Given the description of an element on the screen output the (x, y) to click on. 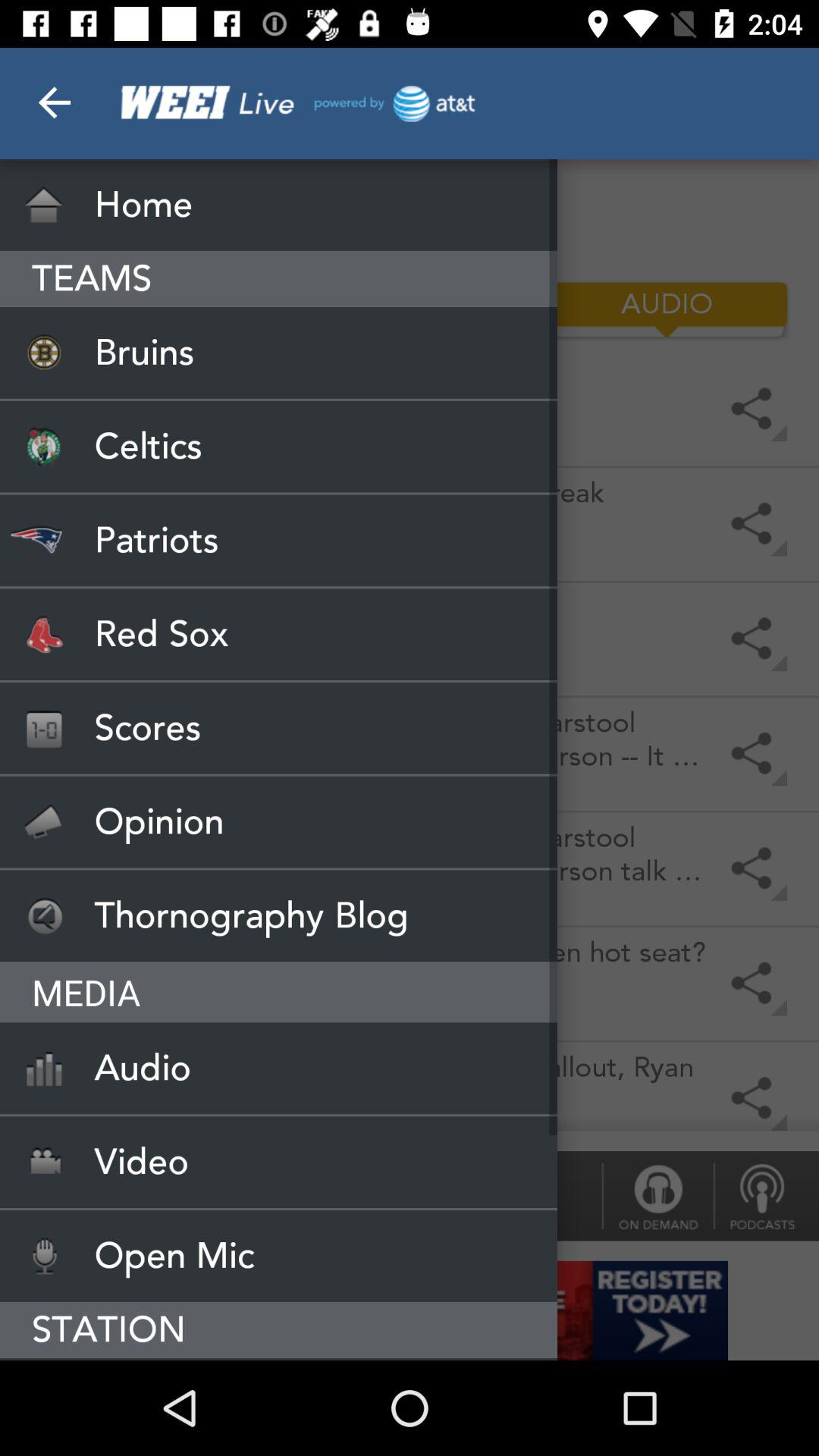
click the item to the right of the dale & holley item (657, 1196)
